Given the description of an element on the screen output the (x, y) to click on. 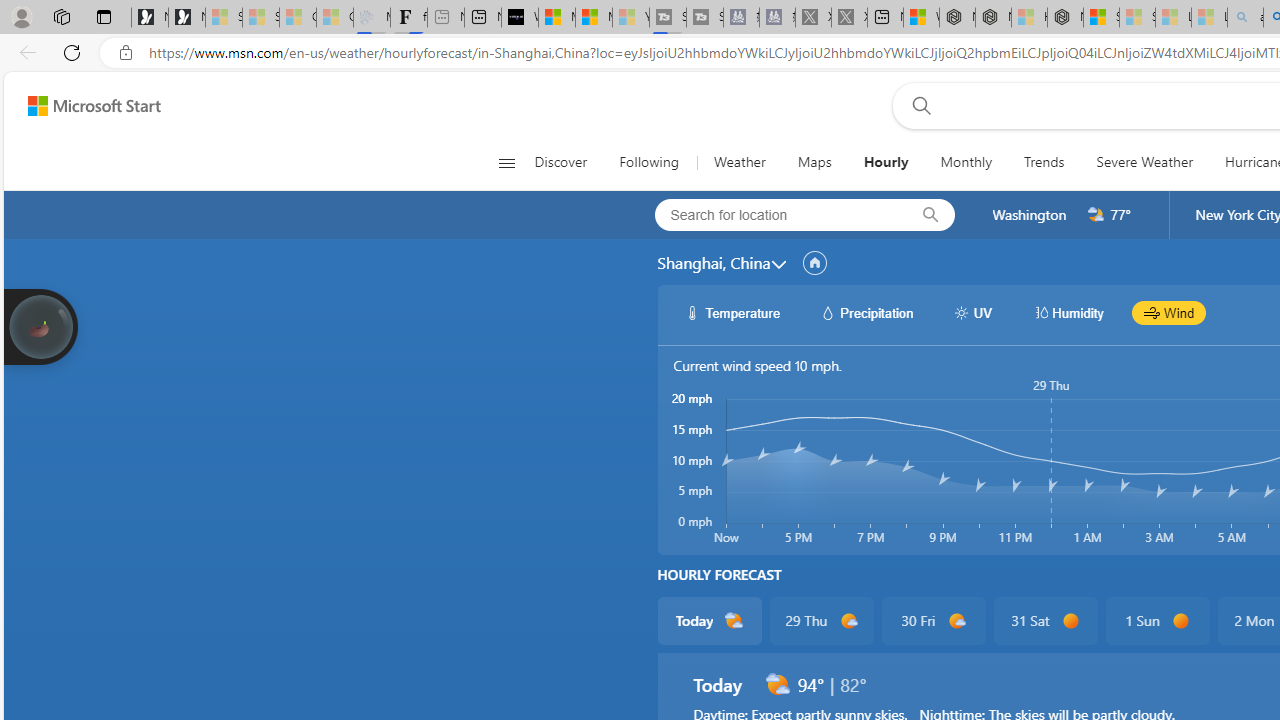
Hourly (885, 162)
Maps (814, 162)
Trends (1044, 162)
Weather (738, 162)
Hourly (886, 162)
Severe Weather (1144, 162)
Join us in planting real trees to help our planet! (40, 327)
Shanghai, China (713, 263)
hourlyChart/uvWhite (961, 312)
Trends (1044, 162)
